Given the description of an element on the screen output the (x, y) to click on. 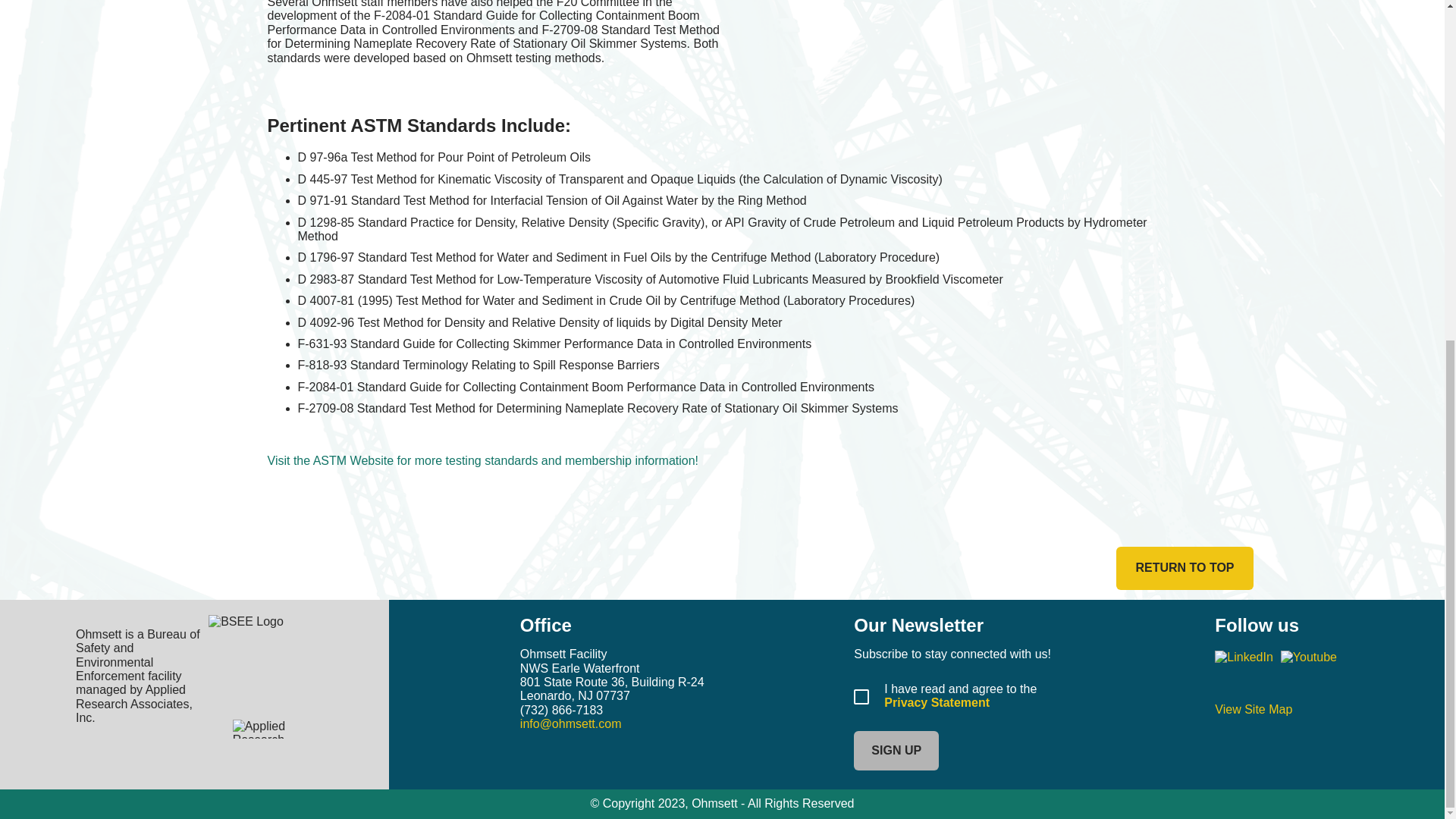
SIGN UP (896, 750)
Agree (861, 696)
LinkedIn (1243, 657)
Youtube (1308, 657)
RETURN TO TOP (1184, 567)
Privacy Statement (936, 702)
View Site Map (1253, 708)
